Given the description of an element on the screen output the (x, y) to click on. 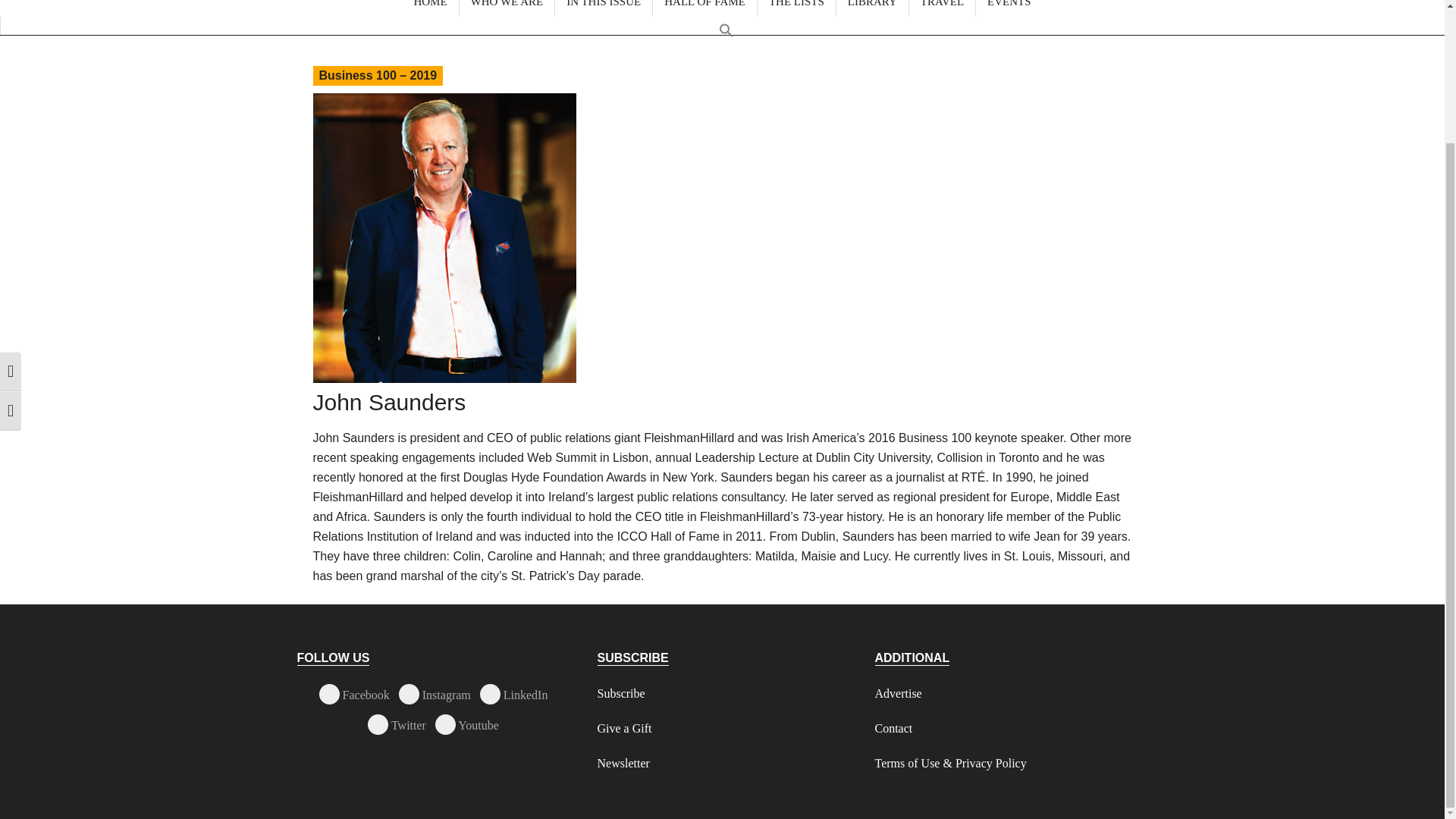
Subscribe (620, 693)
TRAVEL (941, 8)
WHO WE ARE (507, 8)
Newsletter (622, 762)
Advertise (898, 693)
IN THIS ISSUE (603, 8)
THE LISTS (796, 8)
Contact (893, 727)
EVENTS (1008, 8)
HOME (429, 8)
